Given the description of an element on the screen output the (x, y) to click on. 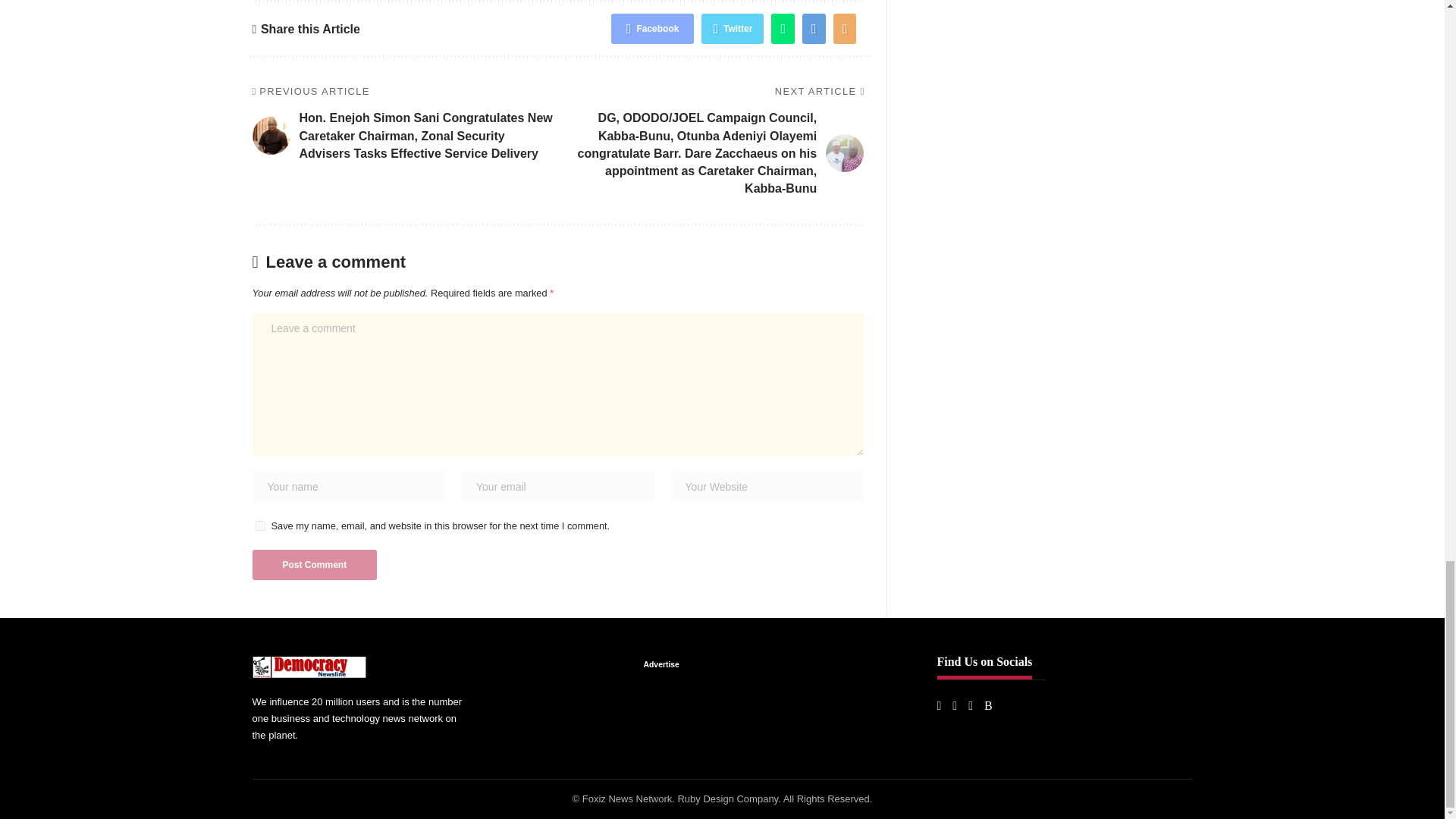
yes (259, 525)
Post Comment (314, 564)
